Given the description of an element on the screen output the (x, y) to click on. 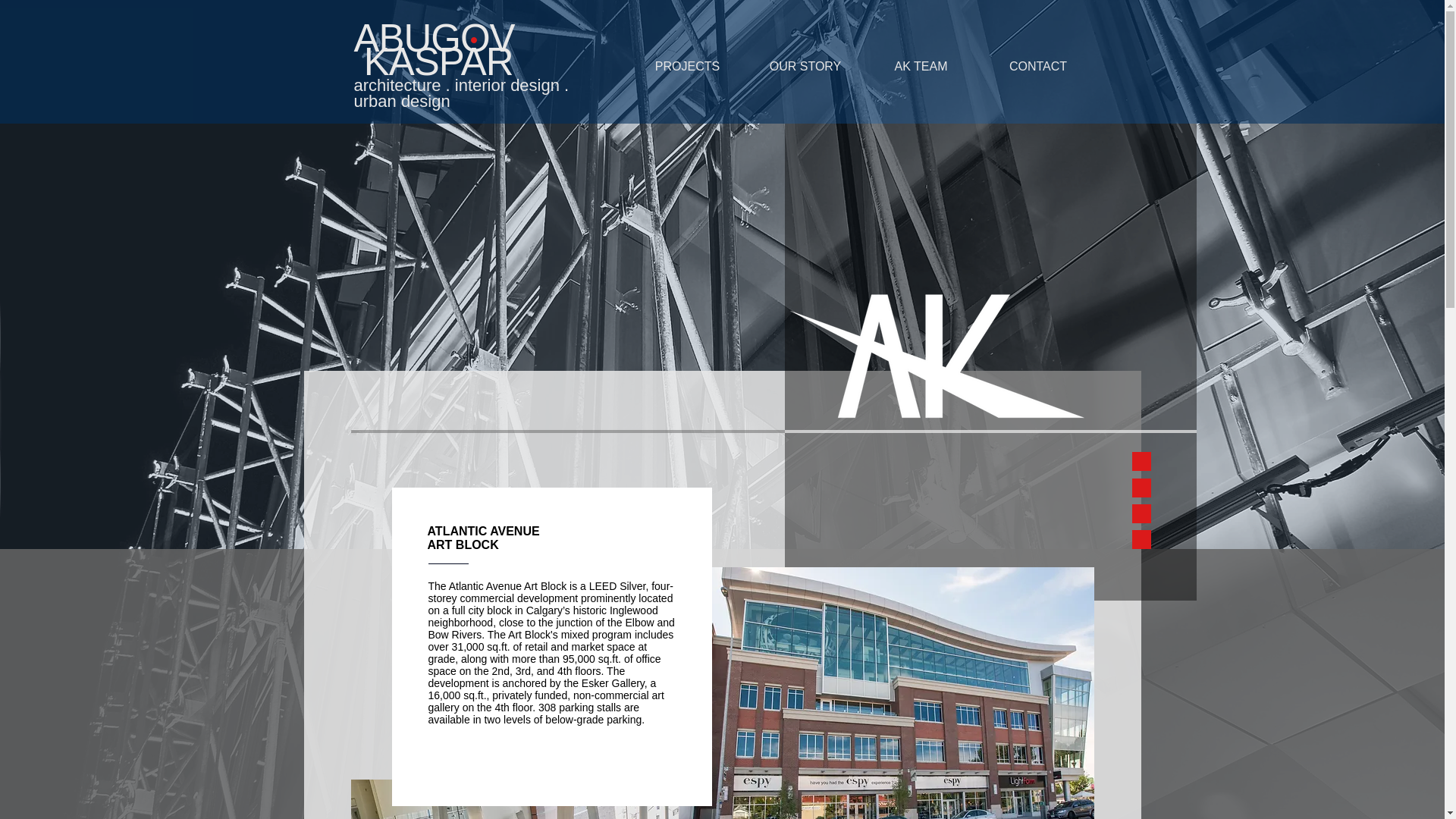
OUR STORY (805, 66)
PROJECTS (688, 66)
architecture . interior design . urban design (461, 93)
AK TEAM (920, 66)
CONTACT (1035, 66)
KASPAR (438, 61)
ABUGOV  (438, 37)
